Given the description of an element on the screen output the (x, y) to click on. 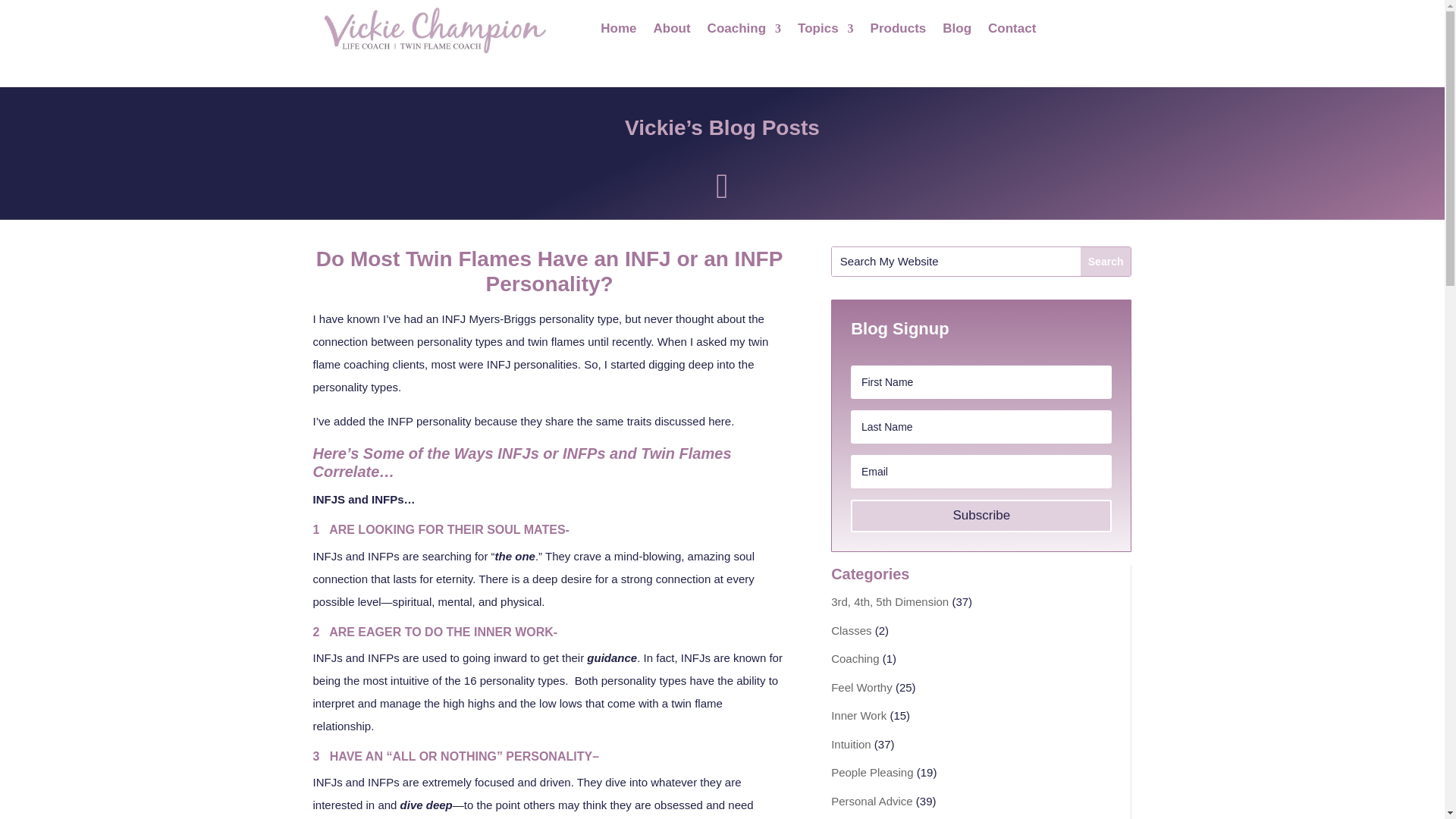
Products (898, 31)
Coaching (855, 658)
Inner Work (858, 715)
About Vickie (671, 31)
Search (1105, 261)
Topics (825, 31)
Contact (1011, 31)
Search (1105, 261)
Topics (825, 31)
People Pleasing (871, 771)
